Given the description of an element on the screen output the (x, y) to click on. 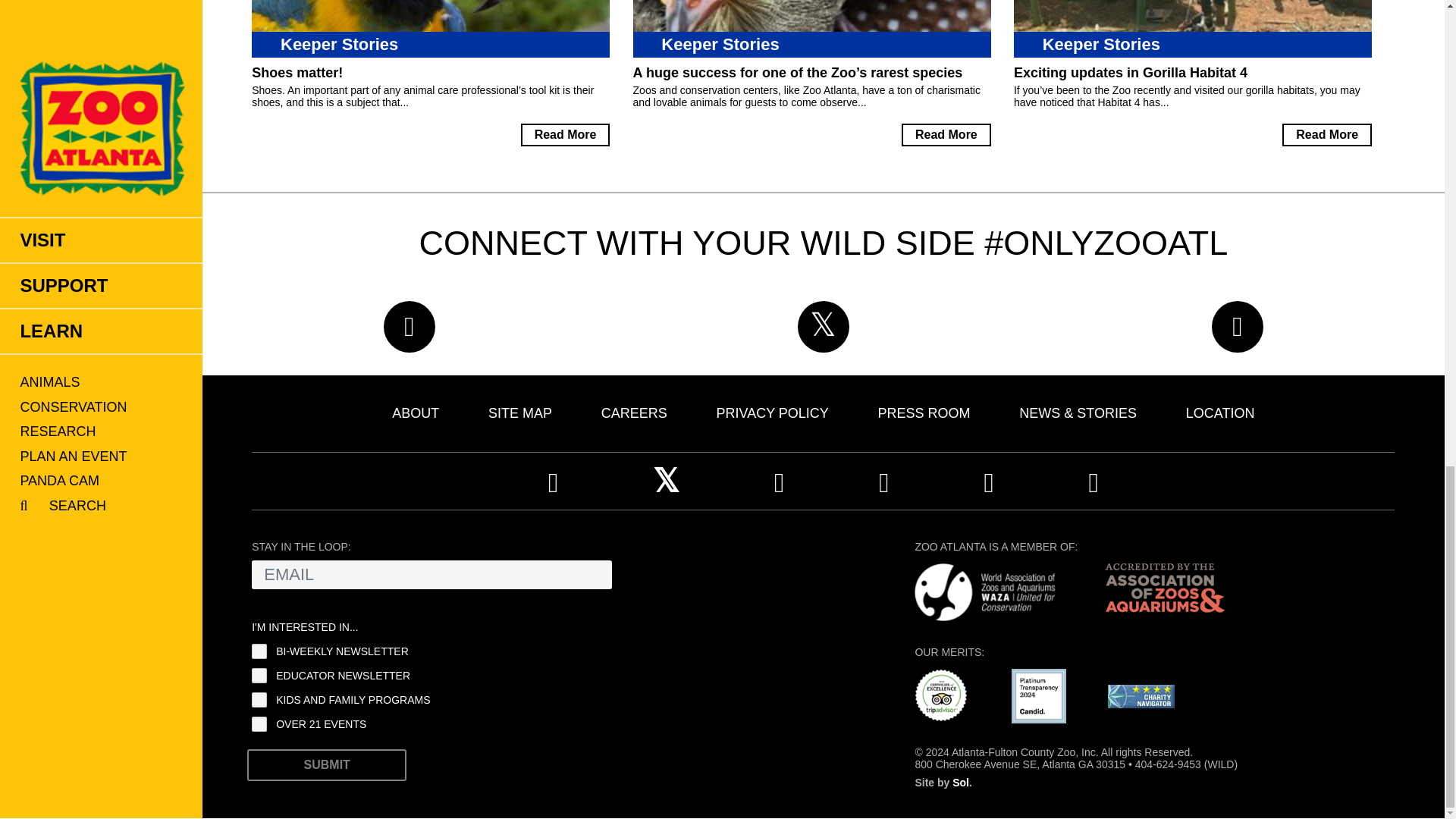
Bi-weekly Newsletter (258, 651)
Submit (326, 765)
Over 21 Events (258, 724)
Kids and Family Programs (258, 699)
Educator Newsletter (258, 675)
